Given the description of an element on the screen output the (x, y) to click on. 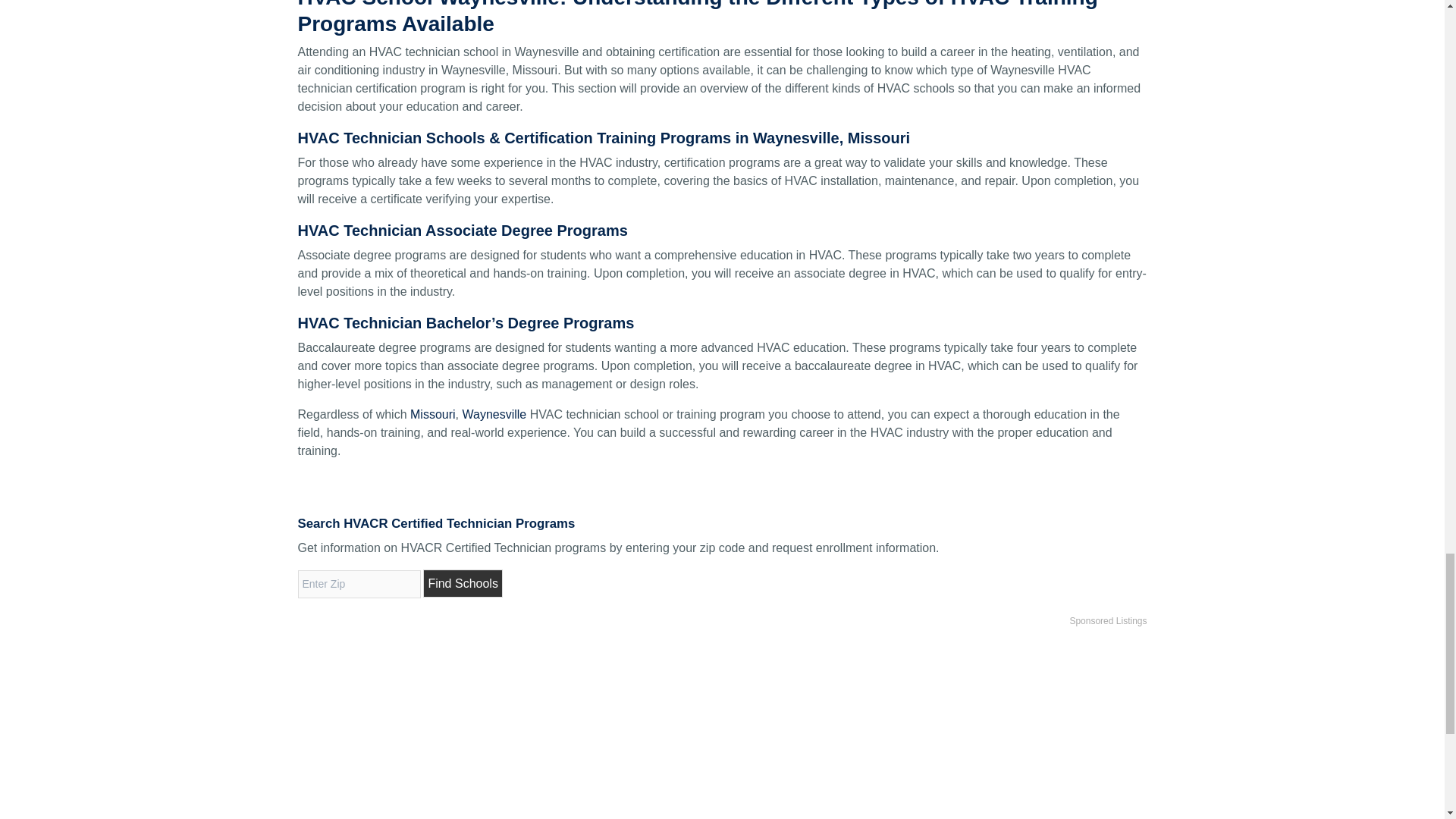
Find Schools (462, 583)
Waynesville (493, 413)
Find Schools (462, 583)
Missouri (432, 413)
